Given the description of an element on the screen output the (x, y) to click on. 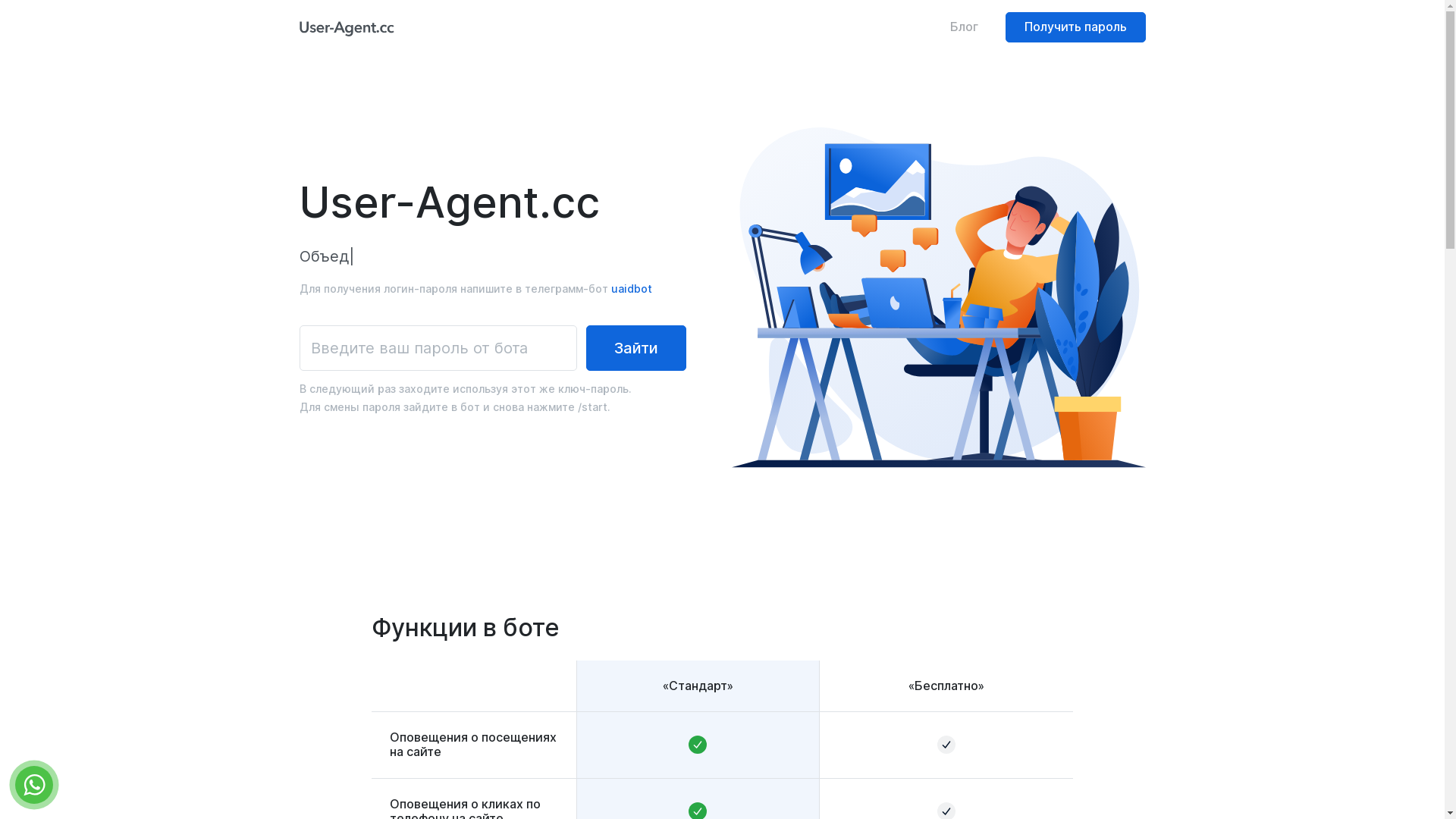
uaidbot Element type: text (631, 300)
